Given the description of an element on the screen output the (x, y) to click on. 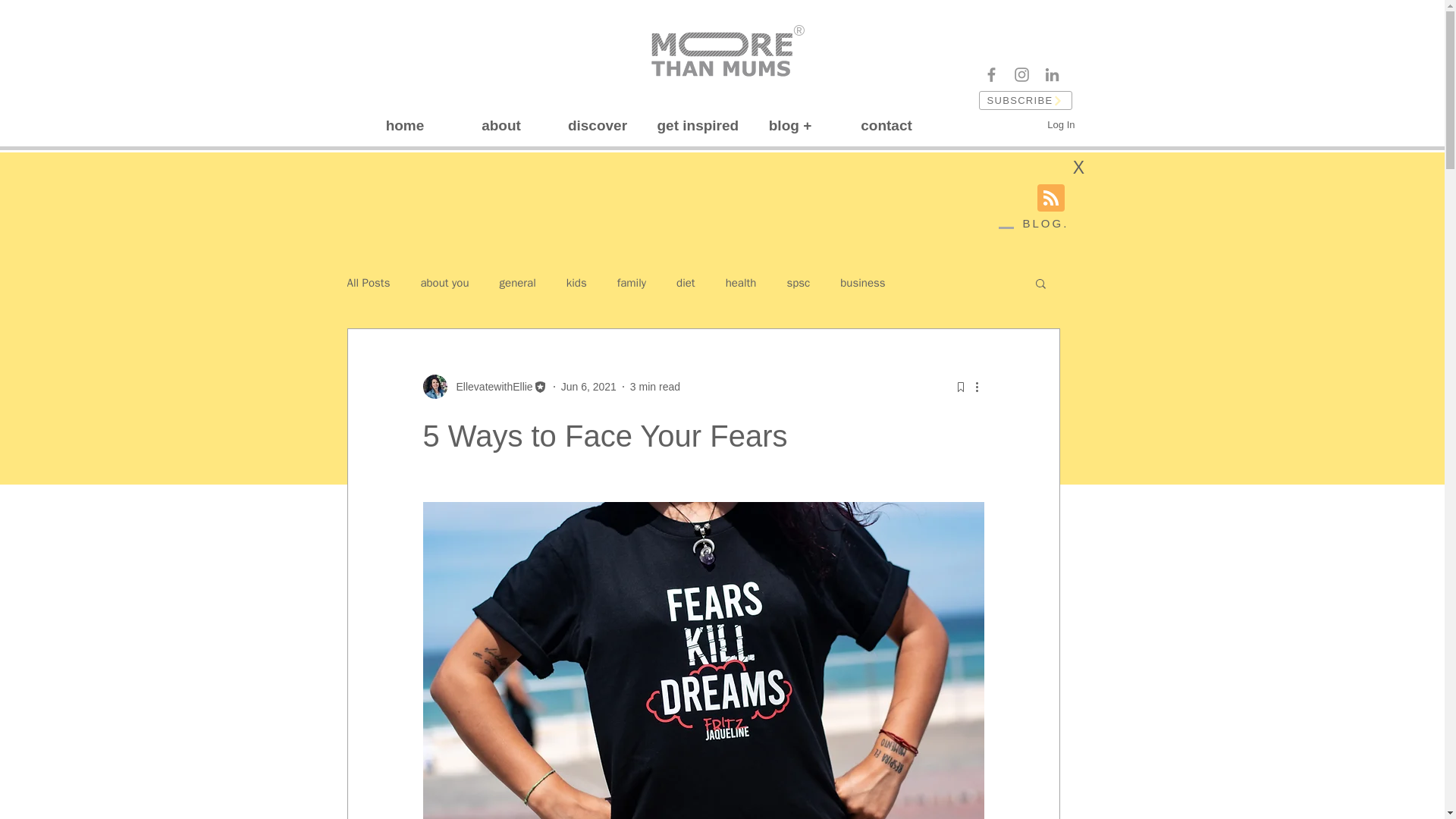
3 min read (654, 386)
SUBSCRIBE (1024, 99)
about (501, 125)
All Posts (368, 283)
X (1077, 167)
kids (576, 283)
Log In (1060, 124)
about you (444, 283)
Jun 6, 2021 (587, 386)
family (631, 283)
get inspired (694, 125)
spsc (797, 283)
discover (596, 125)
business (862, 283)
health (741, 283)
